Given the description of an element on the screen output the (x, y) to click on. 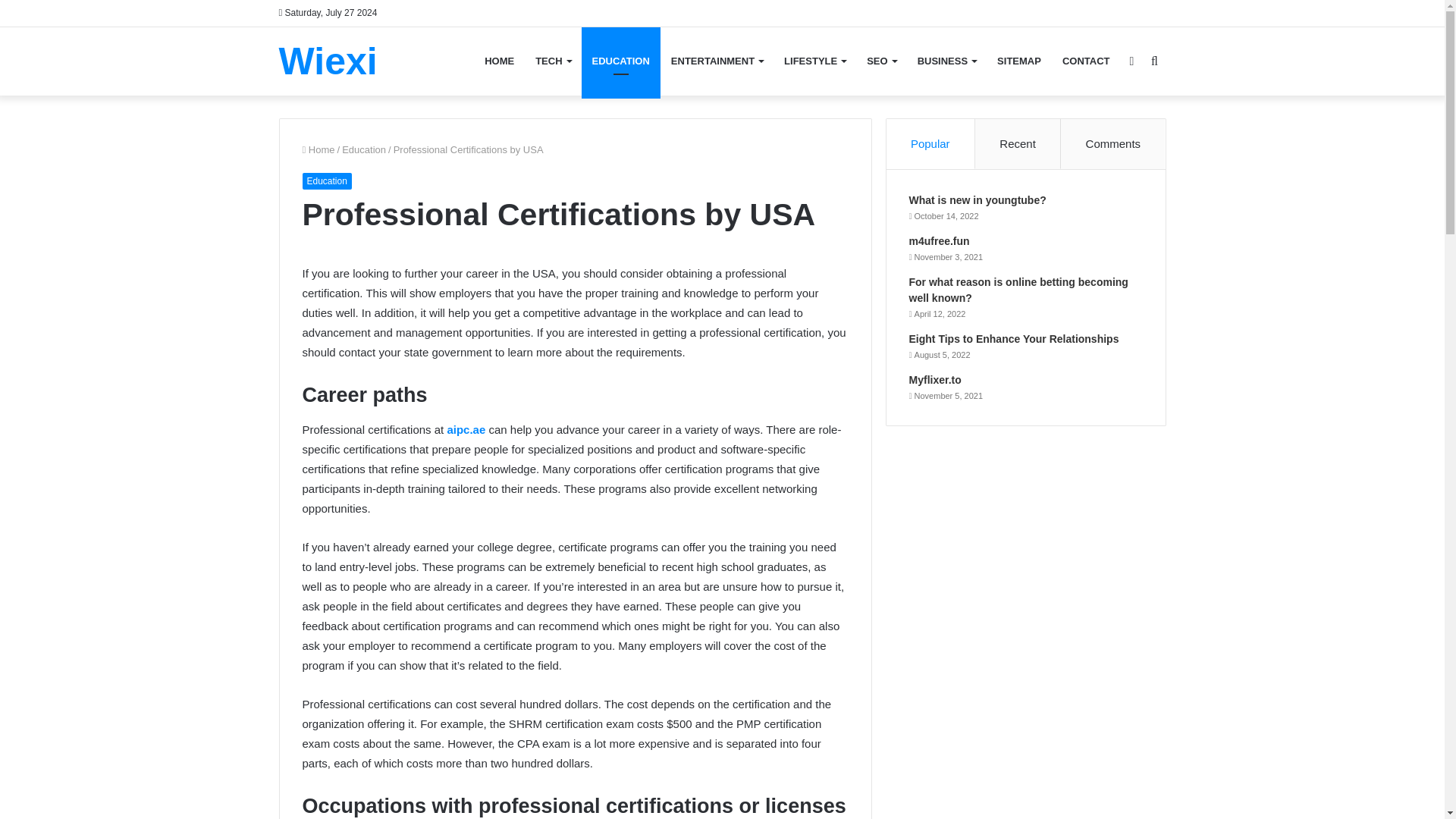
EDUCATION (620, 61)
Wiexi (328, 61)
Education (363, 149)
LIFESTYLE (814, 61)
CONTACT (1086, 61)
Home (317, 149)
BUSINESS (947, 61)
aipc.ae (465, 429)
SITEMAP (1019, 61)
Education (325, 180)
ENTERTAINMENT (717, 61)
Wiexi (328, 61)
